Given the description of an element on the screen output the (x, y) to click on. 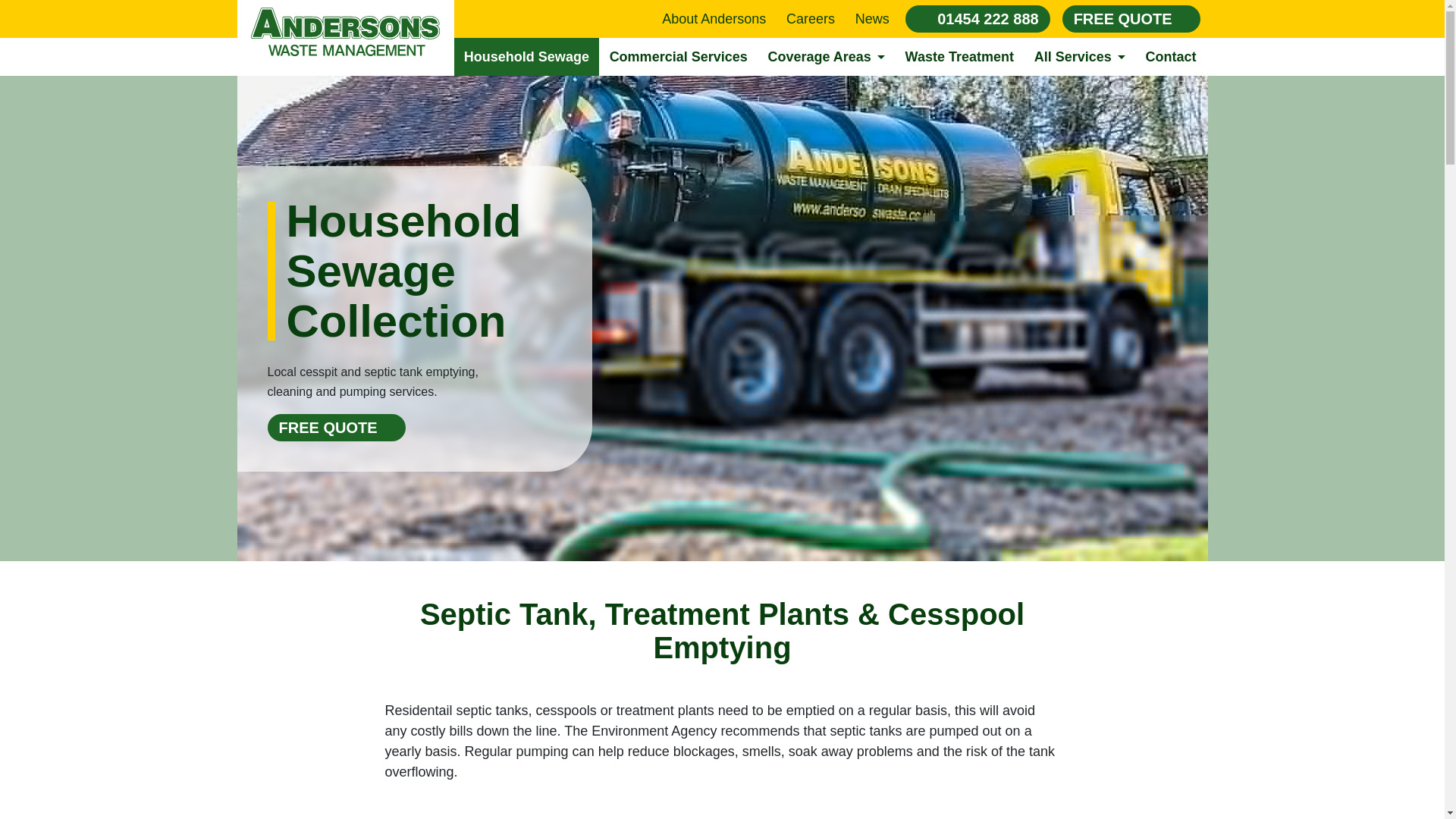
01454 222 888 (977, 18)
FREE QUOTE (335, 427)
Contact (1171, 56)
About Andersons (714, 18)
FREE QUOTE (1130, 18)
Careers (810, 18)
Waste Treatment (959, 56)
Household Sewage (525, 56)
News (871, 18)
Commercial Services (677, 56)
